Given the description of an element on the screen output the (x, y) to click on. 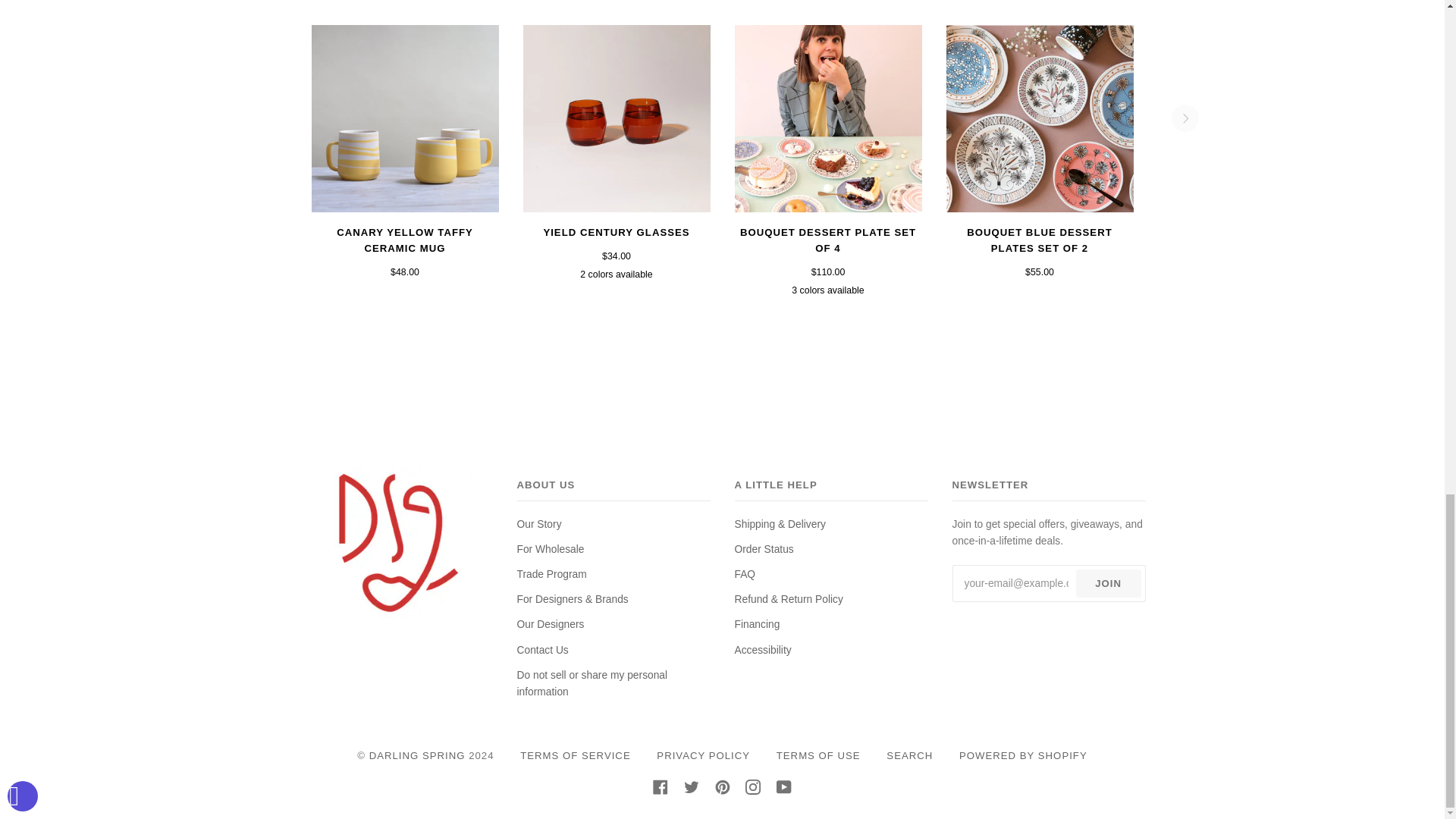
Instagram (752, 786)
Facebook (660, 786)
Pinterest (721, 786)
YouTube (784, 786)
Twitter (691, 786)
